Given the description of an element on the screen output the (x, y) to click on. 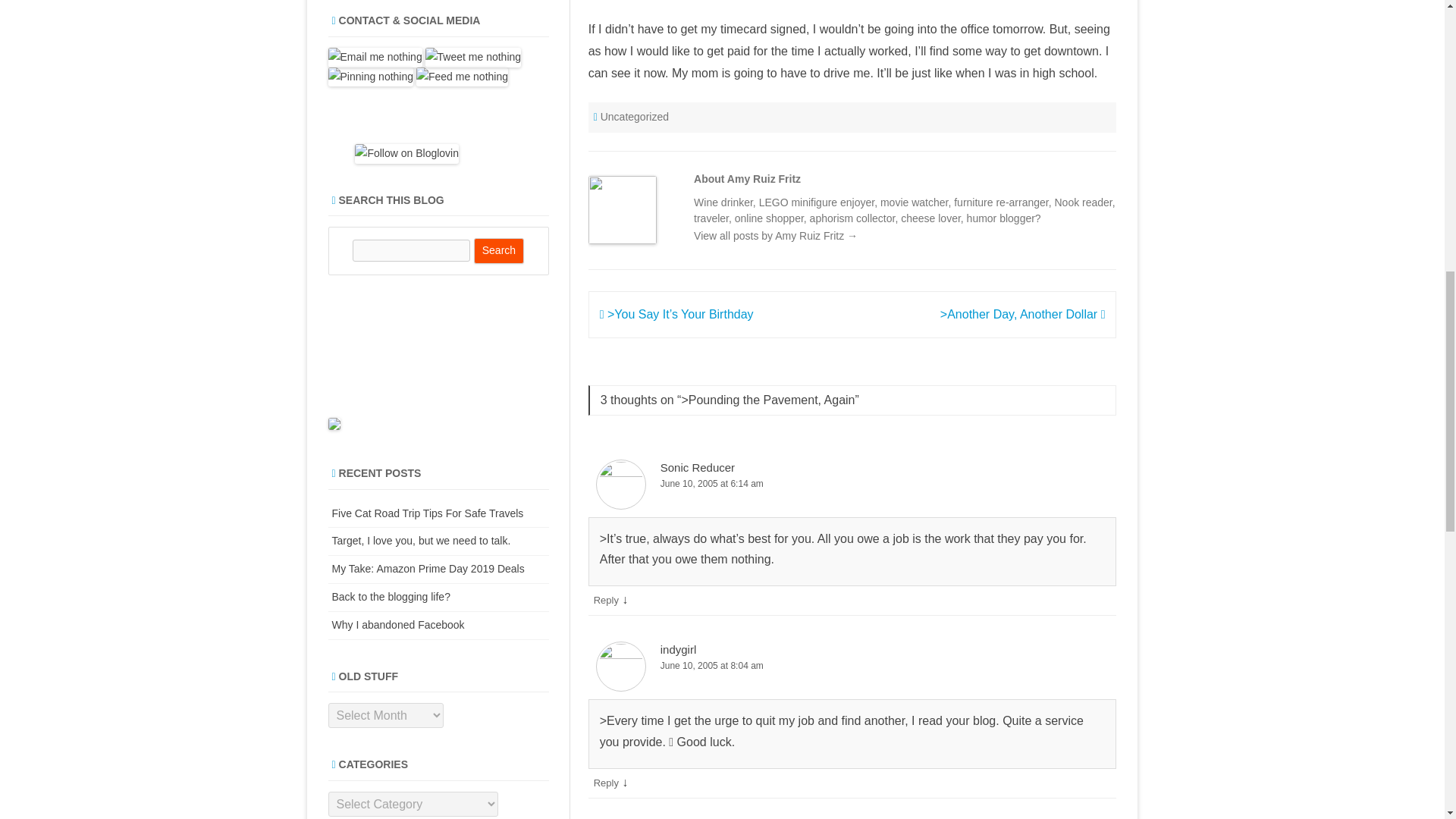
Reply (606, 782)
Reply (606, 600)
June 10, 2005 at 6:14 am (852, 483)
Follow Chronicles of Nothing on Bloglovin (406, 152)
June 10, 2005 at 8:04 am (852, 666)
Uncategorized (633, 116)
Search (499, 250)
